Given the description of an element on the screen output the (x, y) to click on. 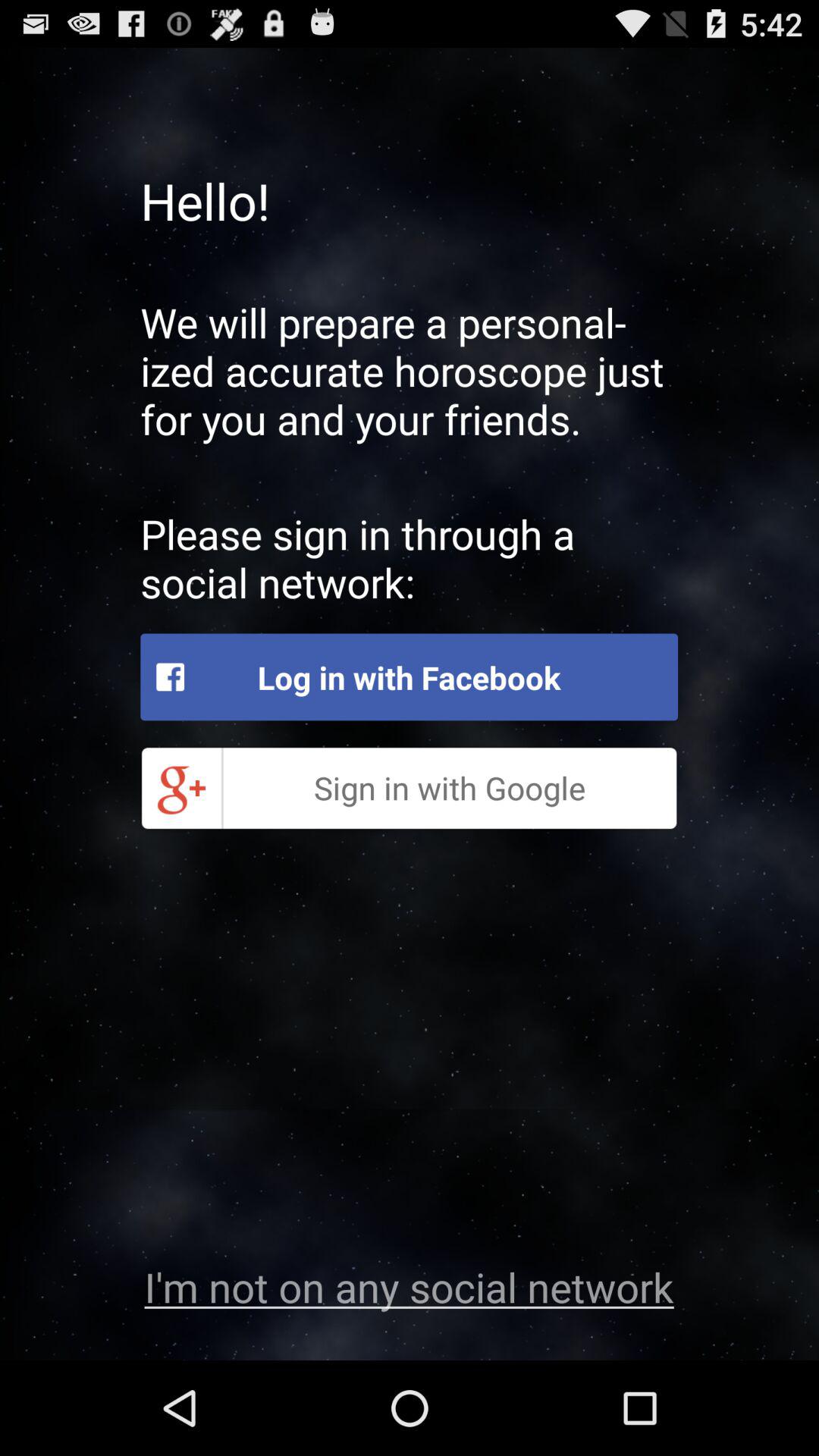
scroll until i m not (409, 1286)
